Given the description of an element on the screen output the (x, y) to click on. 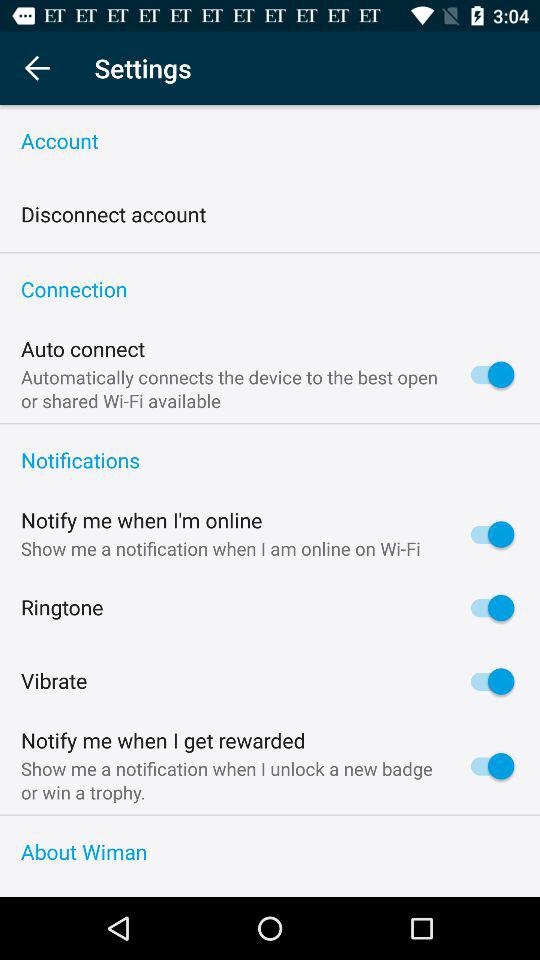
jump to the connection (270, 289)
